Given the description of an element on the screen output the (x, y) to click on. 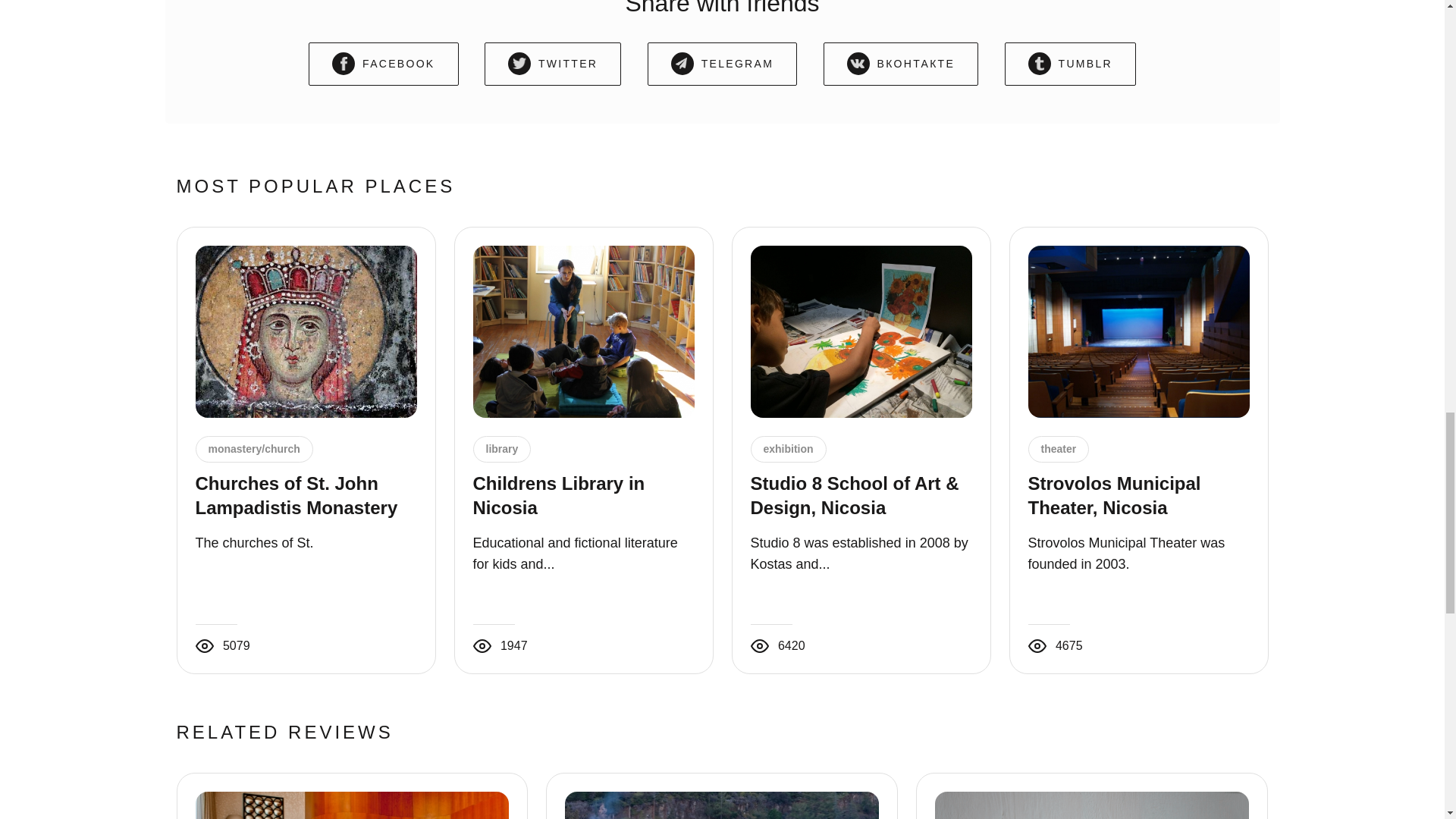
TUMBLR (1069, 63)
Studio 8 was established in 2008 by Kostas and... (859, 553)
exhibition (787, 449)
The churches of St. (254, 542)
Educational and fictional literature for kids and... (575, 553)
library (501, 449)
FACEBOOK (383, 63)
Churches of St. John Lampadistis Monastery (296, 495)
Childrens Library in Nicosia (559, 495)
TWITTER (552, 63)
TELEGRAM (721, 63)
